Given the description of an element on the screen output the (x, y) to click on. 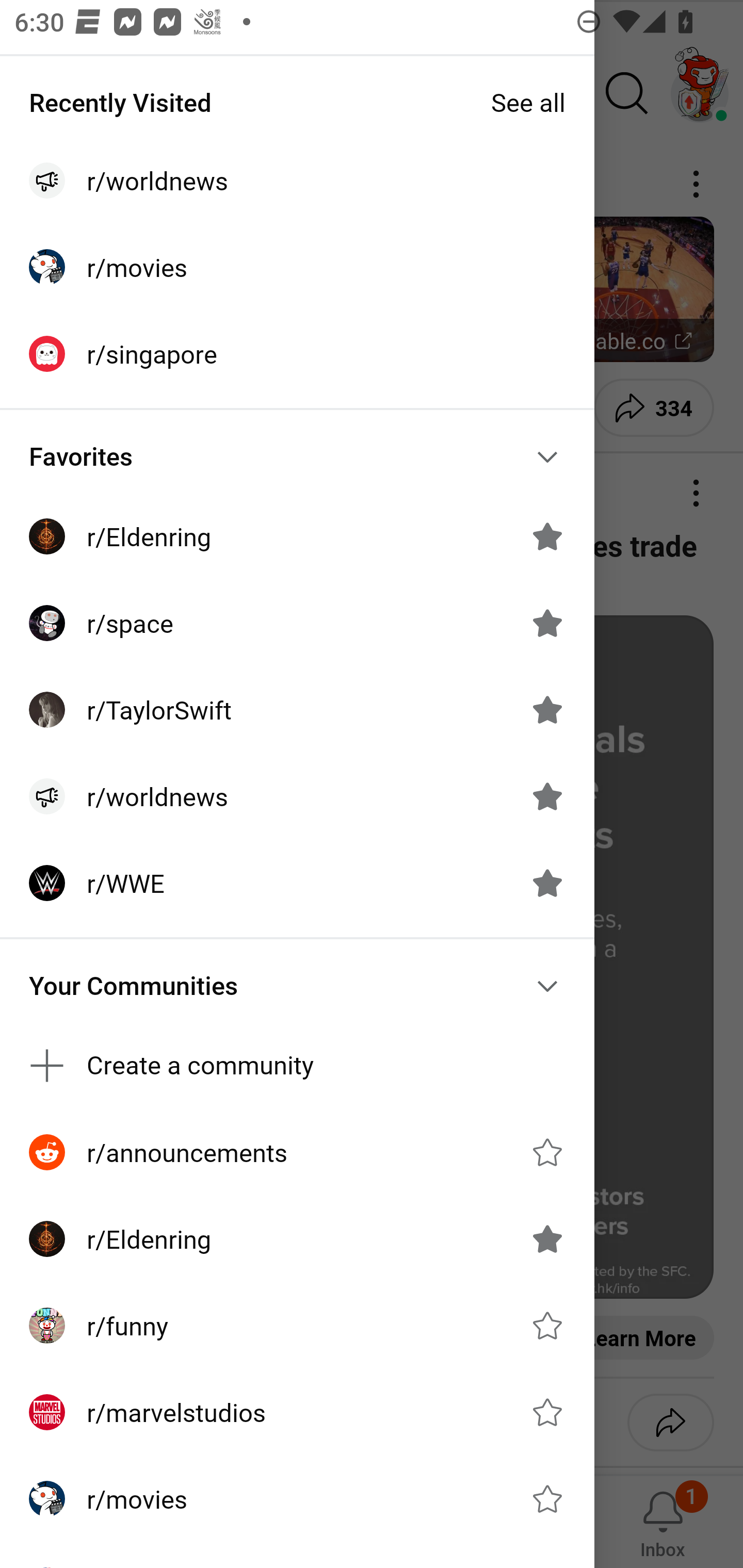
Recently Visited See all (297, 102)
See all (528, 102)
r/worldnews (297, 180)
r/movies (297, 267)
r/singapore (297, 353)
Favorites (297, 456)
r/Eldenring Unfavorite r/Eldenring (297, 536)
Unfavorite r/Eldenring (546, 536)
r/space Unfavorite r/space (297, 623)
Unfavorite r/space (546, 623)
r/TaylorSwift Unfavorite r/TaylorSwift (297, 709)
Unfavorite r/TaylorSwift (546, 709)
r/worldnews Unfavorite r/worldnews (297, 796)
Unfavorite r/worldnews (546, 796)
r/WWE Unfavorite r/WWE (297, 883)
Unfavorite r/WWE (546, 882)
Your Communities (297, 986)
Create a community (297, 1065)
r/announcements Favorite r/announcements (297, 1151)
Favorite r/announcements (546, 1152)
r/Eldenring Unfavorite r/Eldenring (297, 1238)
Unfavorite r/Eldenring (546, 1238)
r/funny Favorite r/funny (297, 1325)
Favorite r/funny (546, 1325)
r/marvelstudios Favorite r/marvelstudios (297, 1411)
Favorite r/marvelstudios (546, 1411)
r/movies Favorite r/movies (297, 1498)
Favorite r/movies (546, 1498)
